Given the description of an element on the screen output the (x, y) to click on. 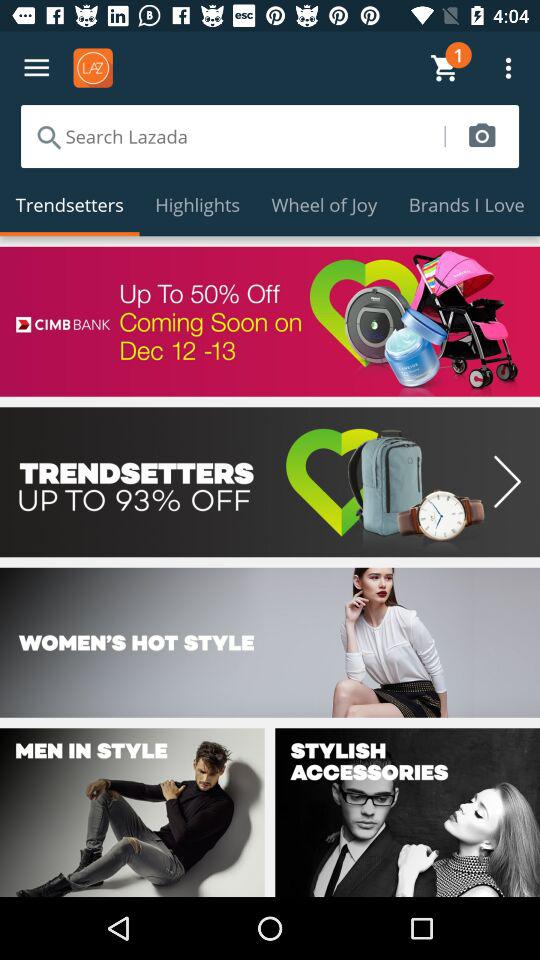
search button (482, 136)
